Given the description of an element on the screen output the (x, y) to click on. 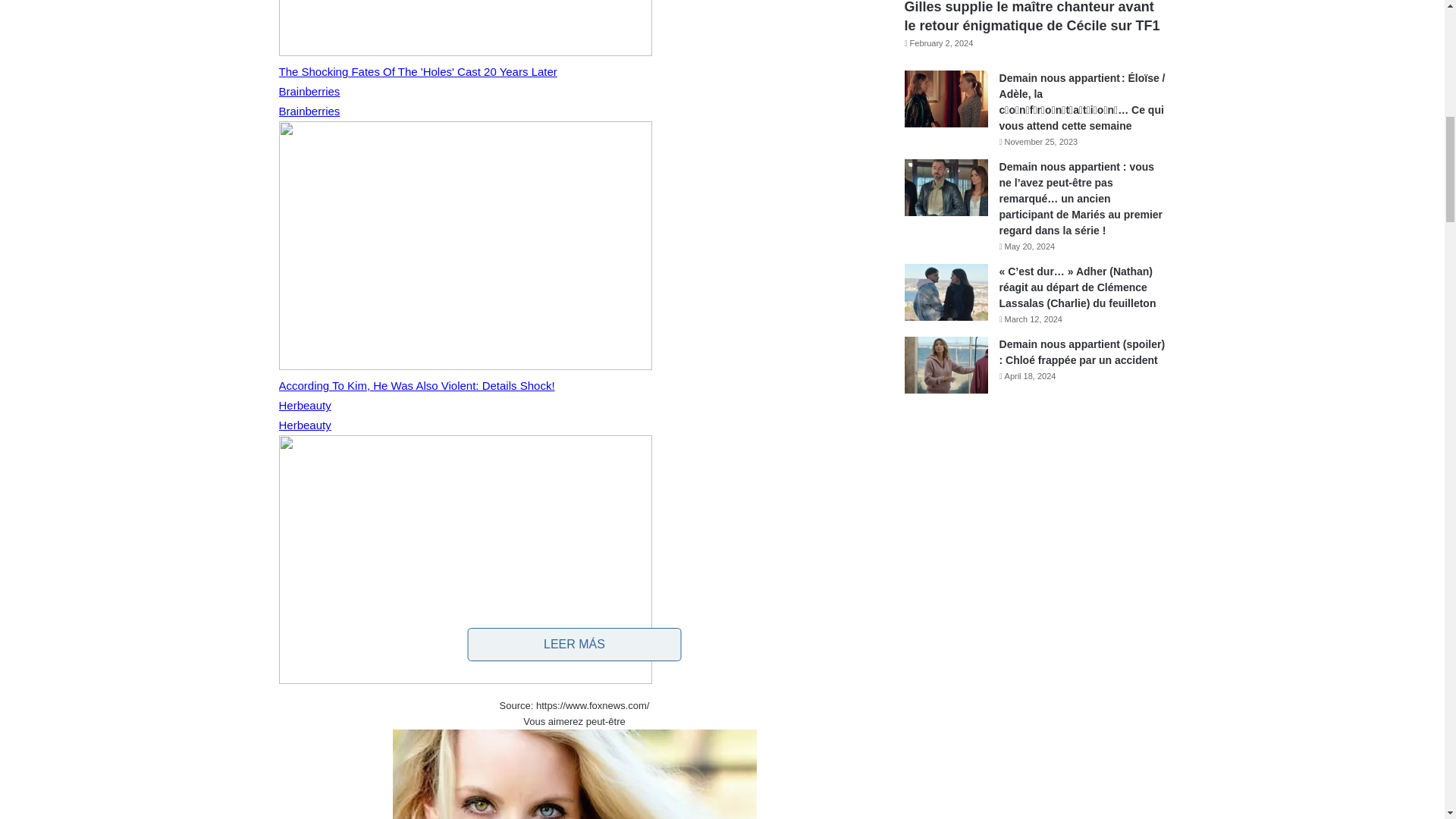
Back to top button (1413, 60)
